Given the description of an element on the screen output the (x, y) to click on. 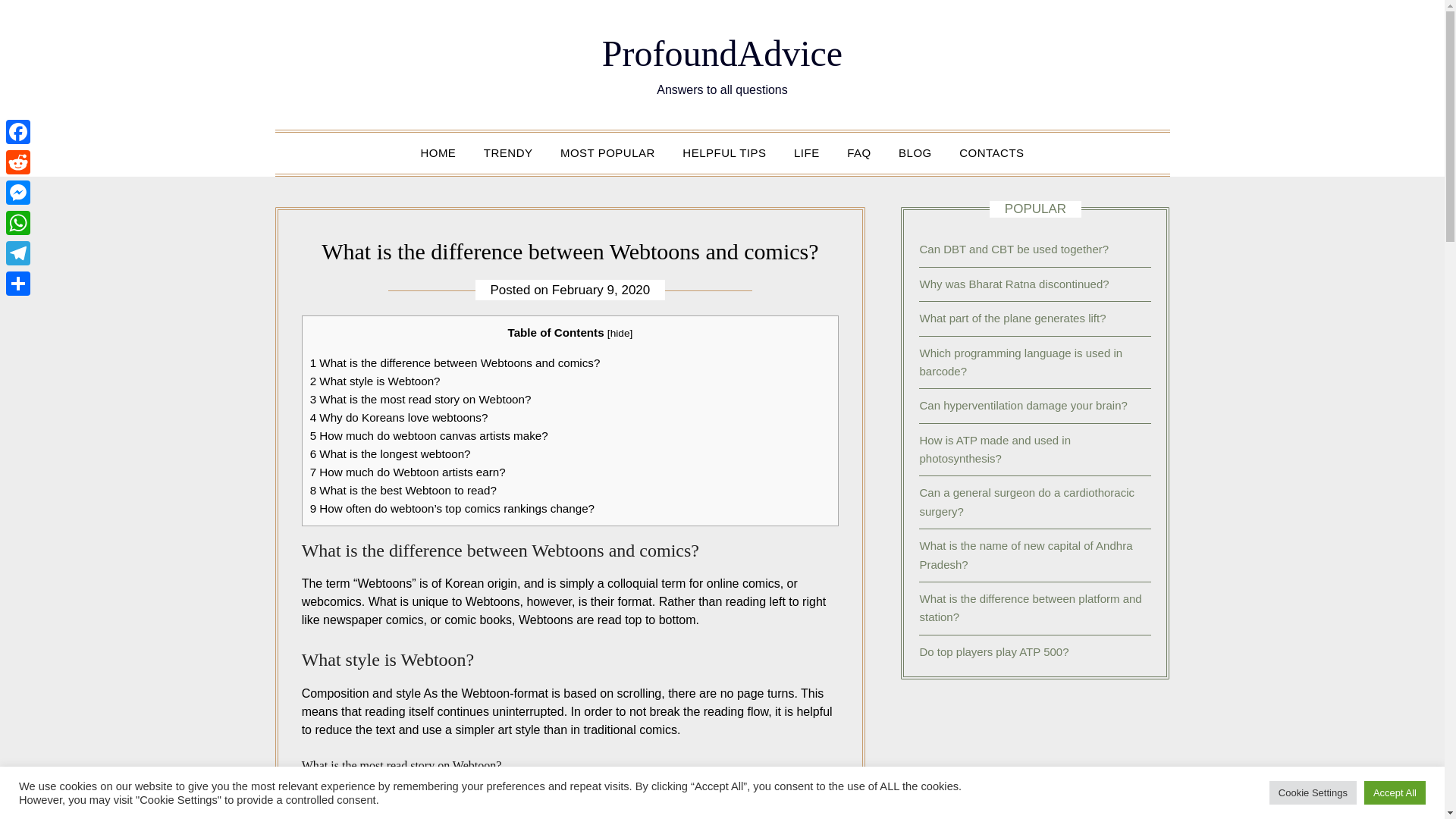
Facebook (17, 132)
Telegram (17, 253)
TRENDY (507, 152)
7 How much do Webtoon artists earn? (407, 472)
FAQ (858, 152)
Messenger (17, 192)
CONTACTS (991, 152)
hide (620, 333)
6 What is the longest webtoon? (390, 453)
What part of the plane generates lift? (1011, 318)
Can DBT and CBT be used together? (1013, 248)
Why was Bharat Ratna discontinued? (1013, 283)
Which programming language is used in barcode? (1020, 360)
LIFE (806, 152)
February 9, 2020 (600, 289)
